Given the description of an element on the screen output the (x, y) to click on. 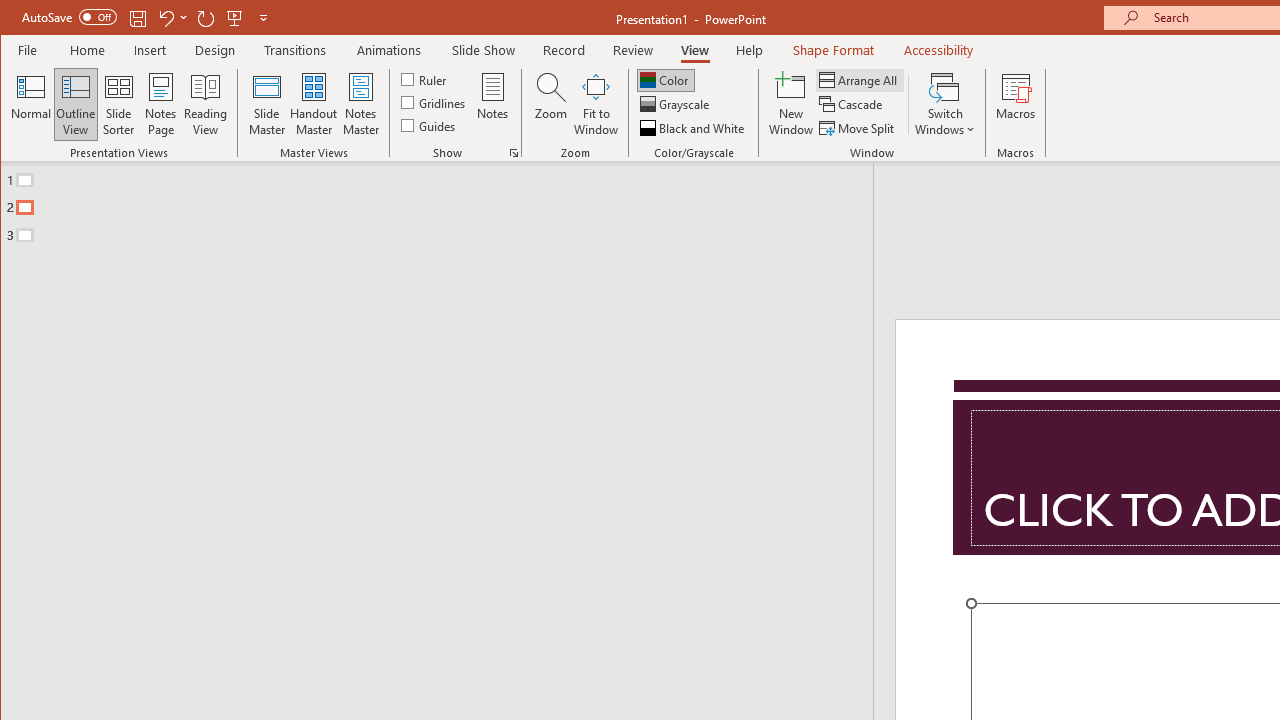
Notes (493, 104)
Arrange All (859, 80)
Color (666, 80)
Slide Master (266, 104)
Notes Master (360, 104)
Guides (430, 124)
